Given the description of an element on the screen output the (x, y) to click on. 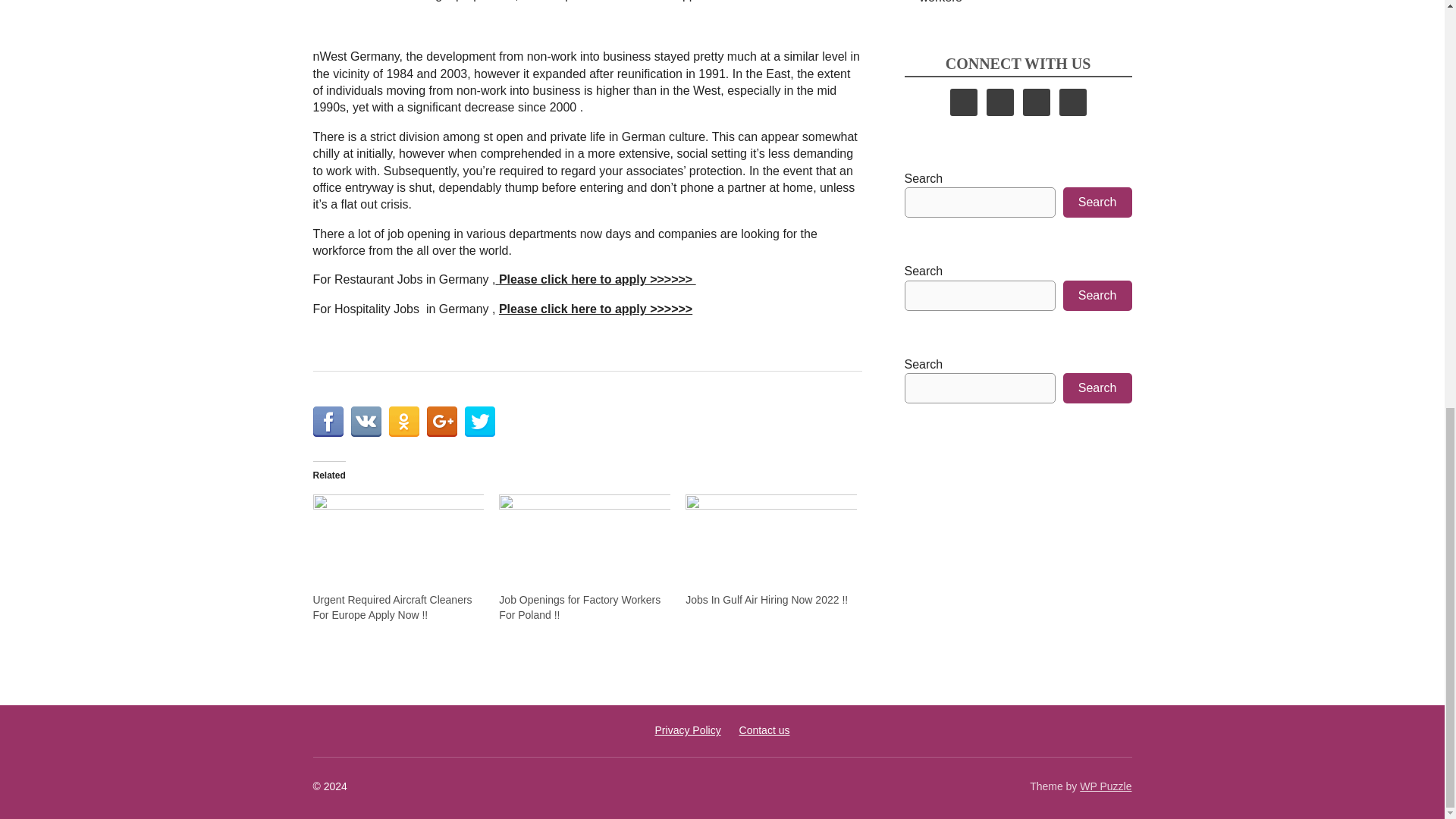
Jobs In Gulf Air Hiring Now 2022 !! (766, 599)
Job Openings for Factory Workers For Poland !! (580, 606)
Urgent Required Aircraft Cleaners For Europe Apply Now !! (392, 606)
Share in Twitter (479, 421)
Share in VK (365, 421)
Job Openings for Factory Workers For Poland !! (580, 606)
Jobs In Gulf Air Hiring Now 2022 !! (771, 543)
Share in Facebook (327, 421)
Jobs In Gulf Air Hiring Now 2022 !! (766, 599)
Share in OK (403, 421)
